Given the description of an element on the screen output the (x, y) to click on. 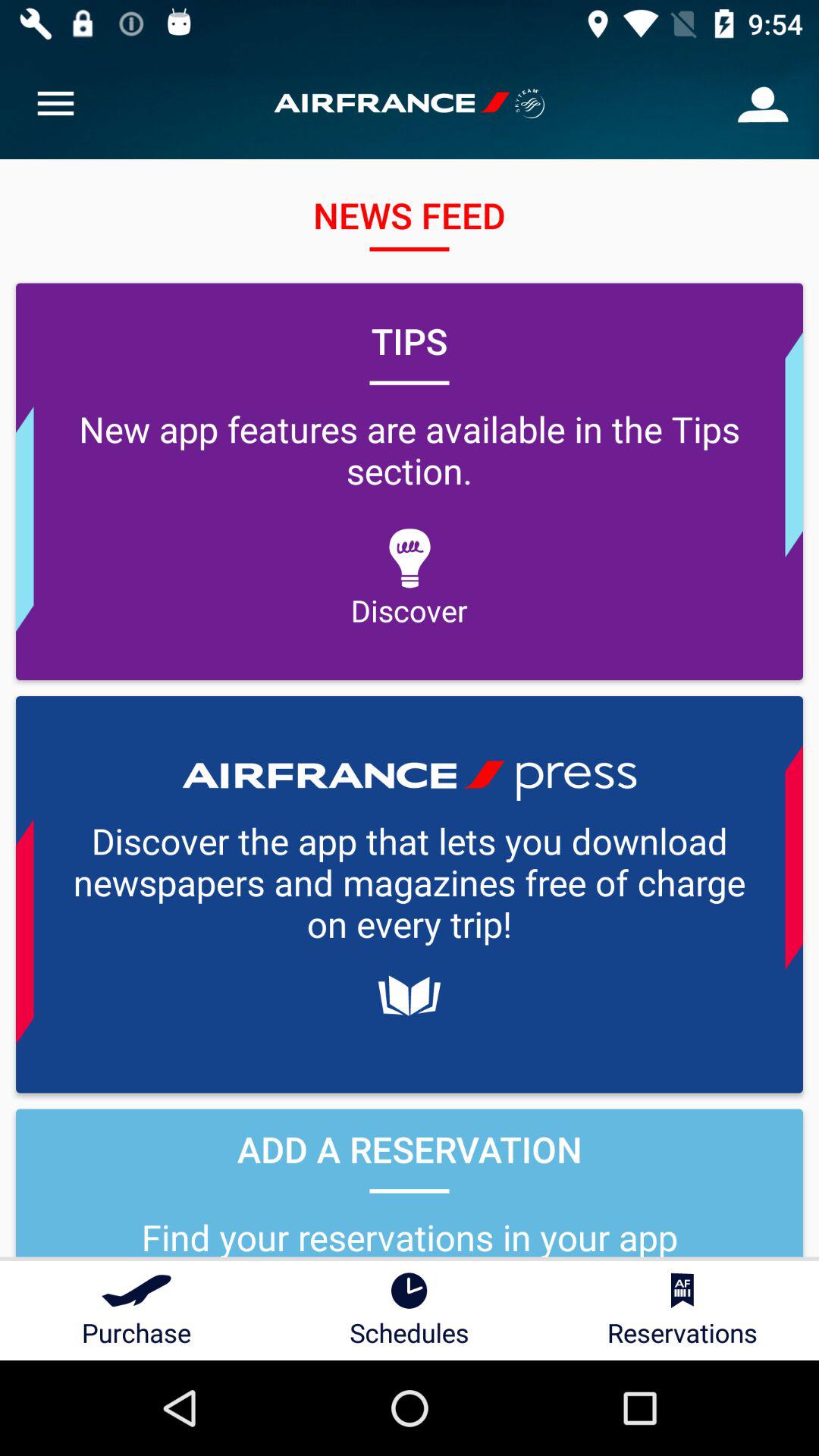
click the icon to the left of the schedules item (136, 1310)
